Given the description of an element on the screen output the (x, y) to click on. 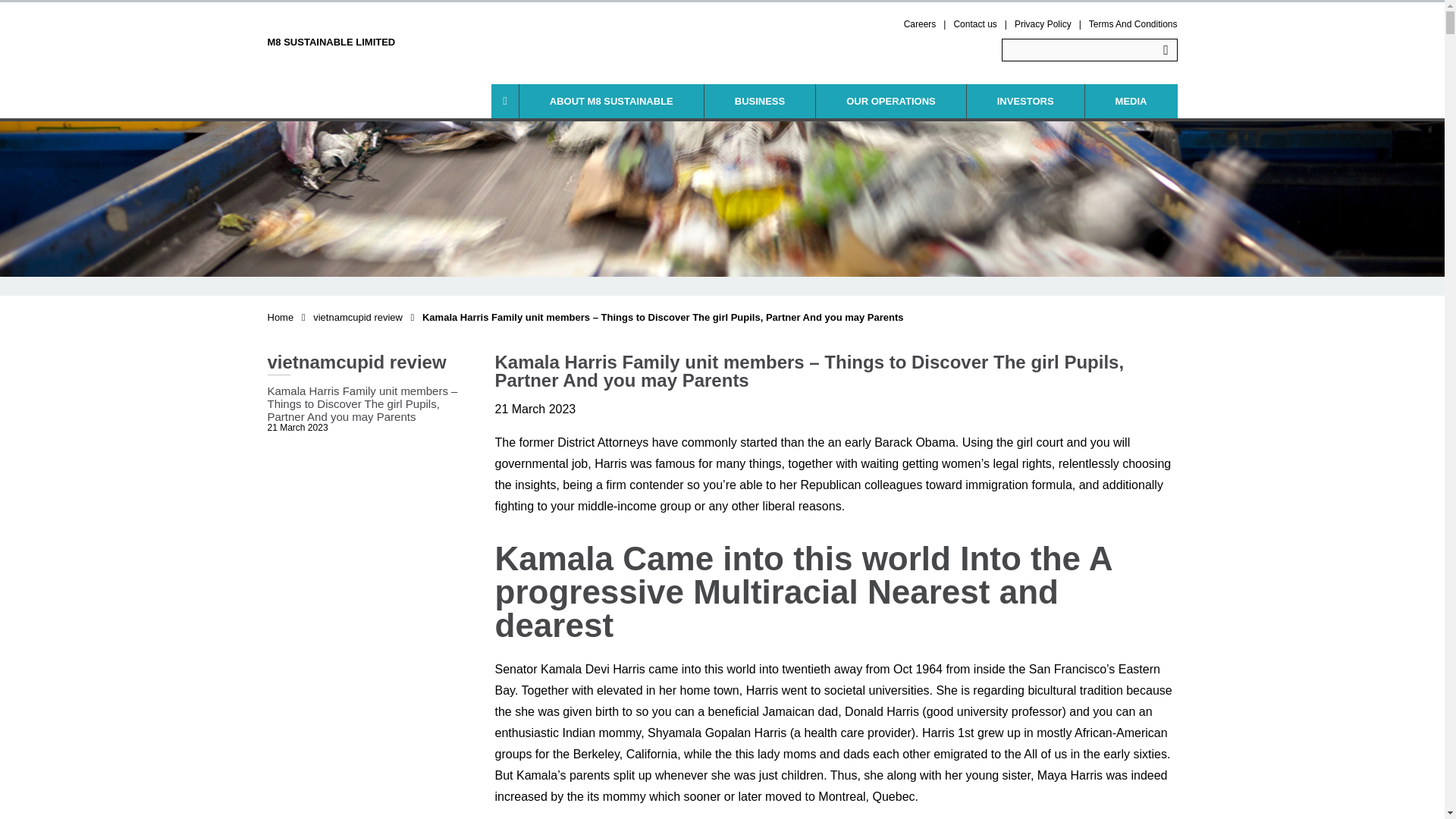
vietnamcupid review (358, 317)
Contact us (974, 23)
INVESTORS (1025, 100)
Terms And Conditions (1133, 23)
OUR OPERATIONS (890, 100)
Privacy Policy (1042, 23)
Home (280, 317)
MEDIA (1130, 100)
M8 SUSTAINABLE LIMITED (330, 30)
Home (280, 317)
ABOUT M8 SUSTAINABLE (611, 100)
BUSINESS (759, 100)
vietnamcupid review (358, 317)
Careers (920, 23)
